Given the description of an element on the screen output the (x, y) to click on. 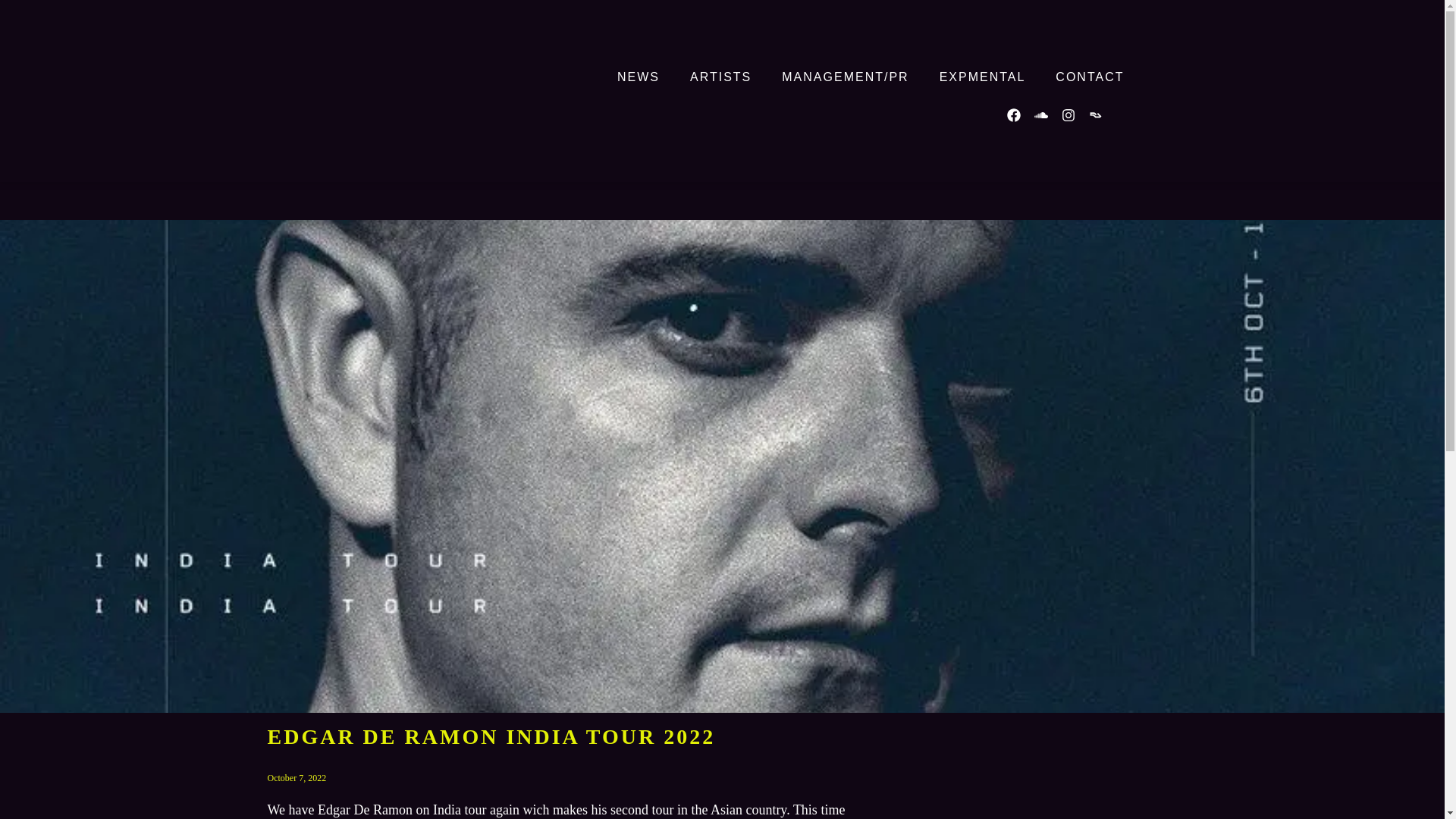
NEWS (638, 77)
EXPMENTAL (982, 77)
ARTISTS (721, 77)
CONTACT (1089, 77)
